Given the description of an element on the screen output the (x, y) to click on. 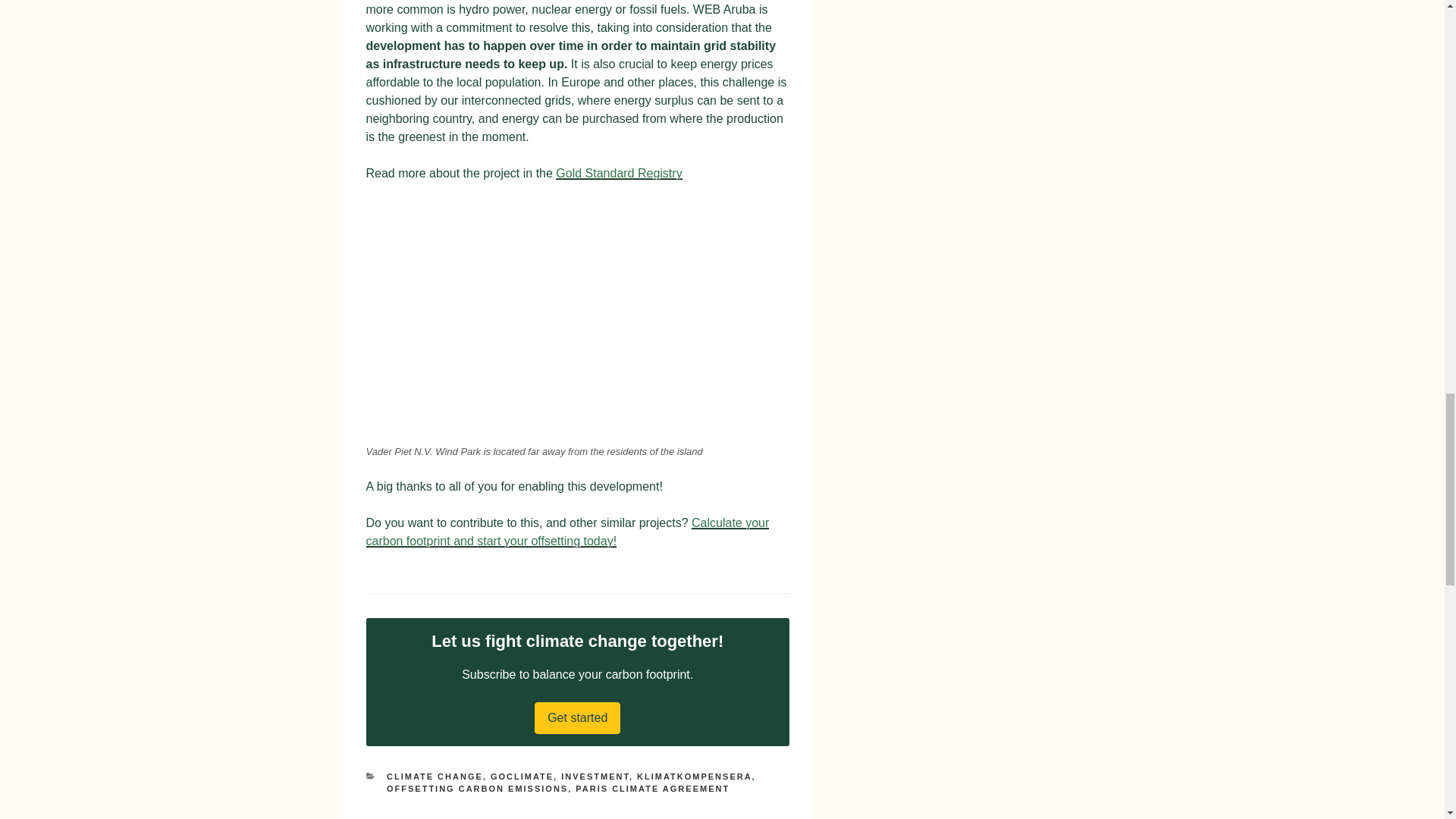
INVESTMENT (594, 776)
PARIS CLIMATE AGREEMENT (652, 788)
Gold Standard Registry (618, 173)
GOCLIMATE (521, 776)
KLIMATKOMPENSERA (694, 776)
CLIMATE CHANGE (435, 776)
Get started (577, 717)
OFFSETTING CARBON EMISSIONS (477, 788)
